Given the description of an element on the screen output the (x, y) to click on. 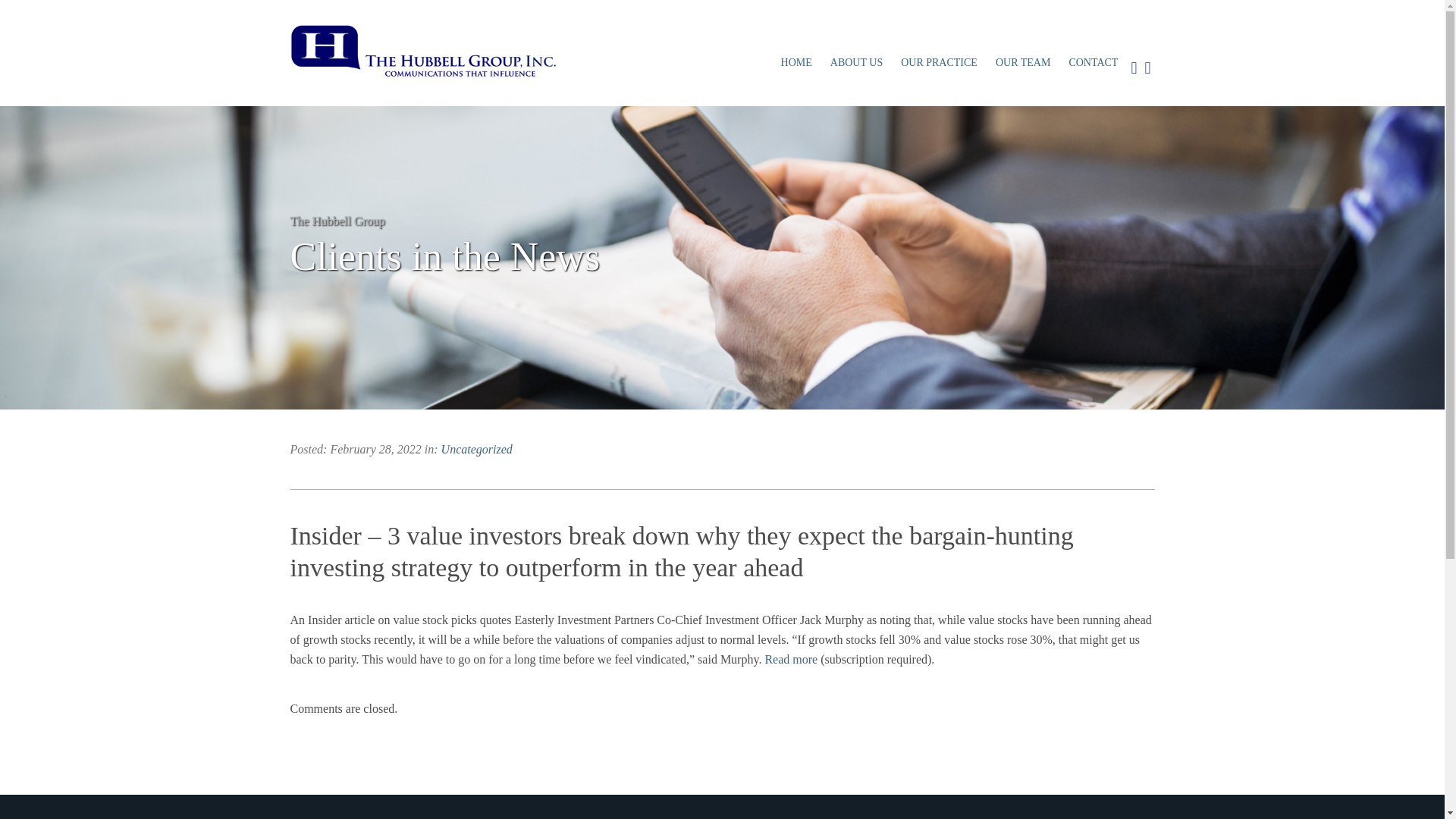
HOME (796, 62)
OUR PRACTICE (939, 62)
Uncategorized (476, 449)
Read more (790, 658)
CONTACT (1092, 62)
OUR TEAM (1023, 62)
ABOUT US (856, 62)
